Given the description of an element on the screen output the (x, y) to click on. 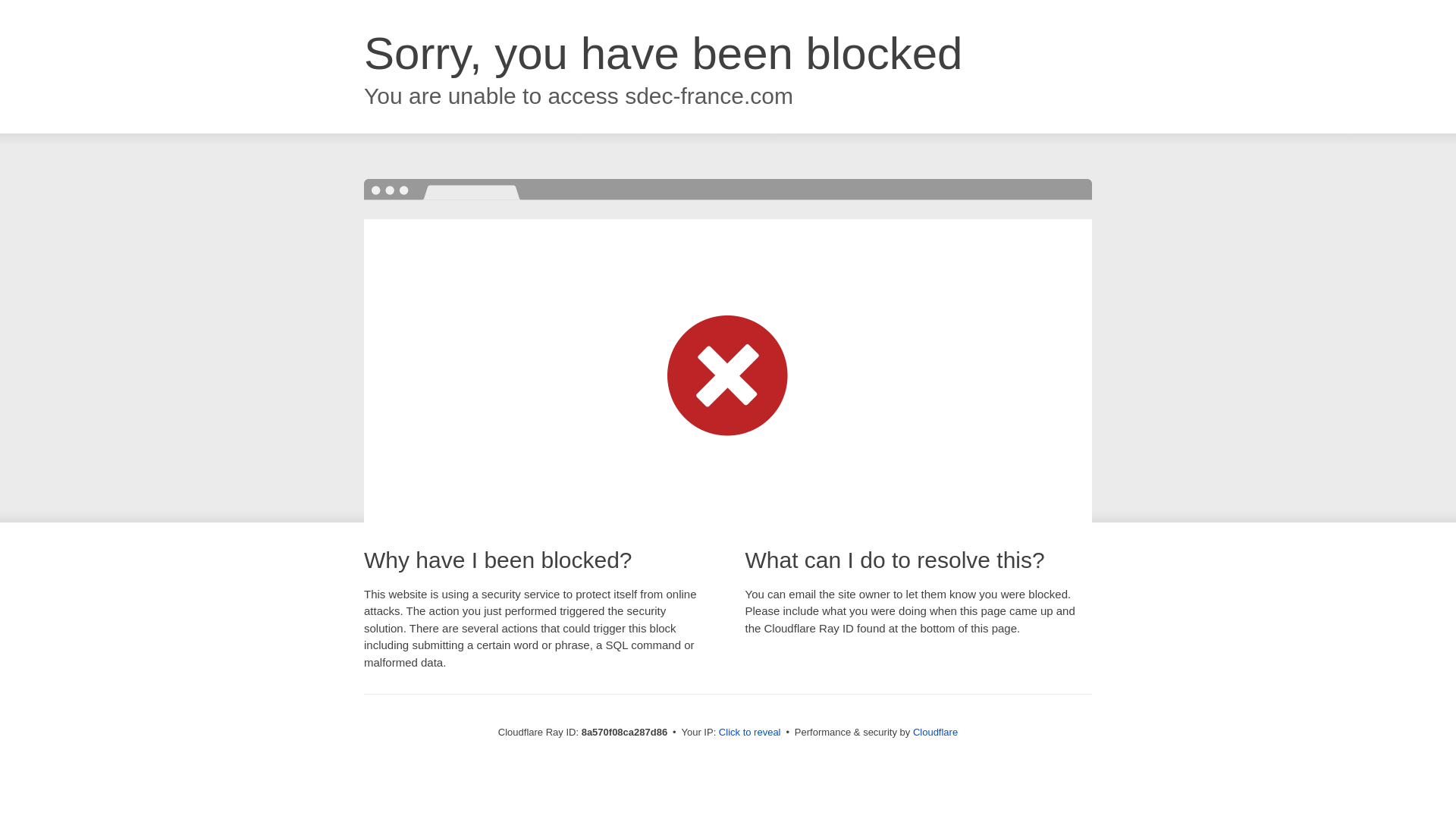
Click to reveal (749, 732)
Cloudflare (935, 731)
